Given the description of an element on the screen output the (x, y) to click on. 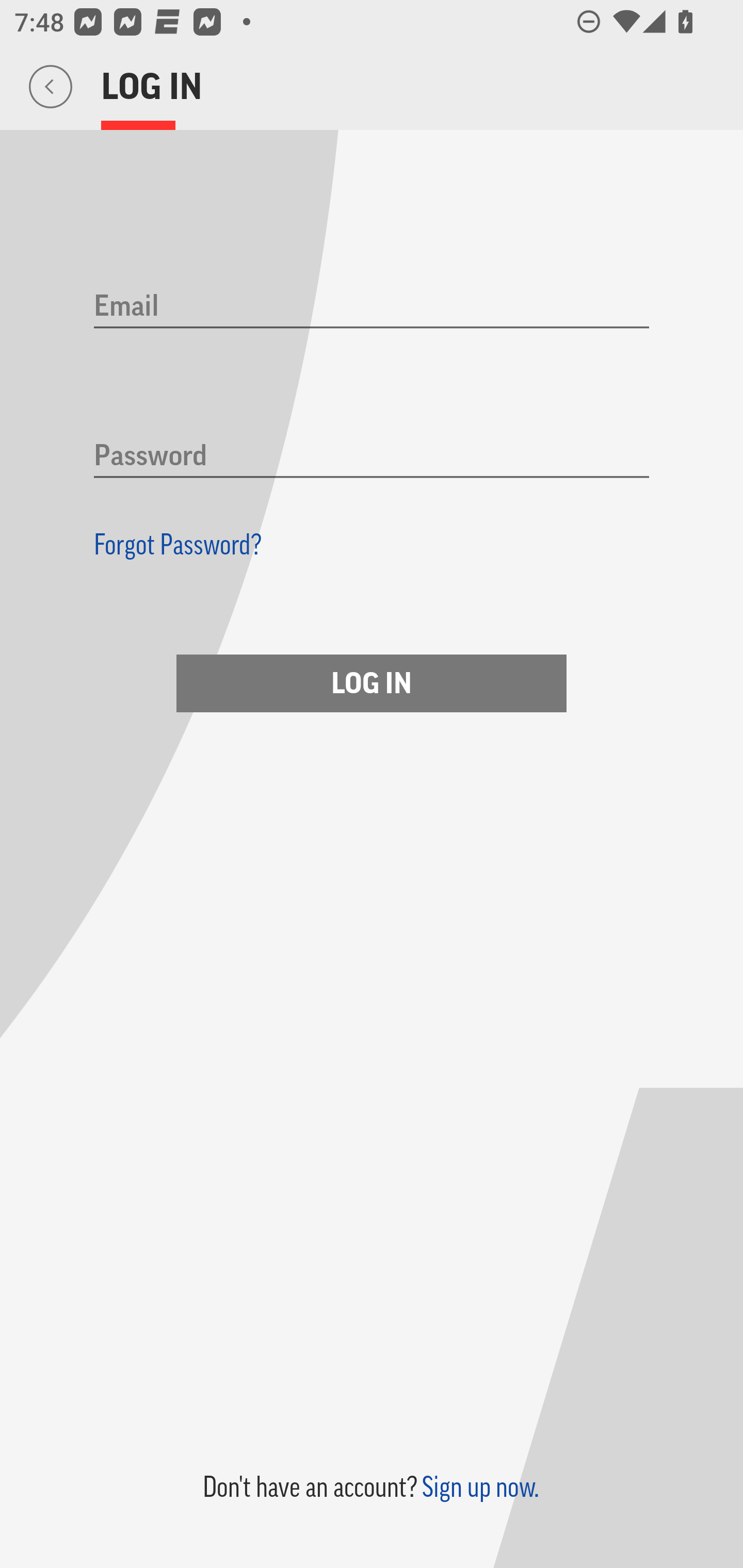
Email (371, 306)
Password (371, 456)
Forgot Password? (177, 543)
LOG IN (371, 682)
Don't have an account? Sign up now. (370, 1485)
